Given the description of an element on the screen output the (x, y) to click on. 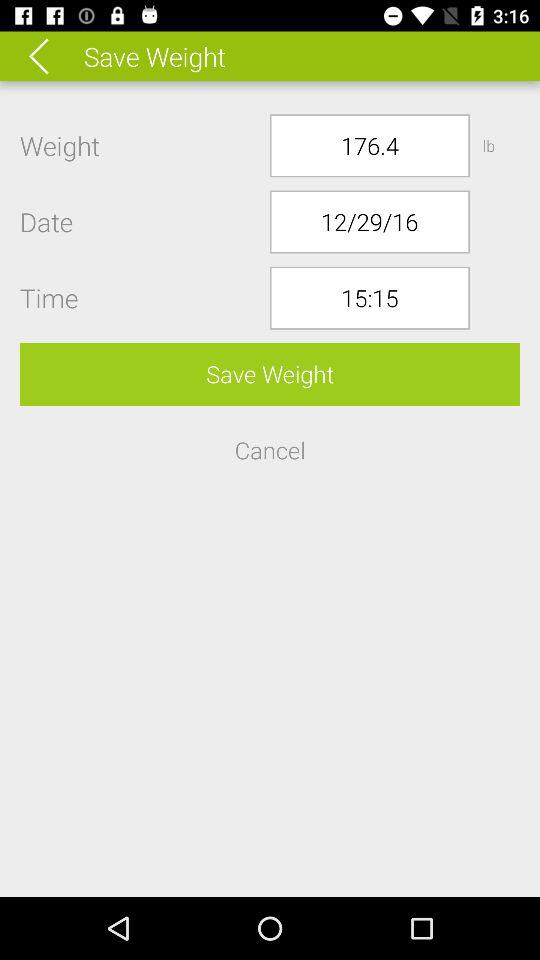
go back (52, 56)
